Given the description of an element on the screen output the (x, y) to click on. 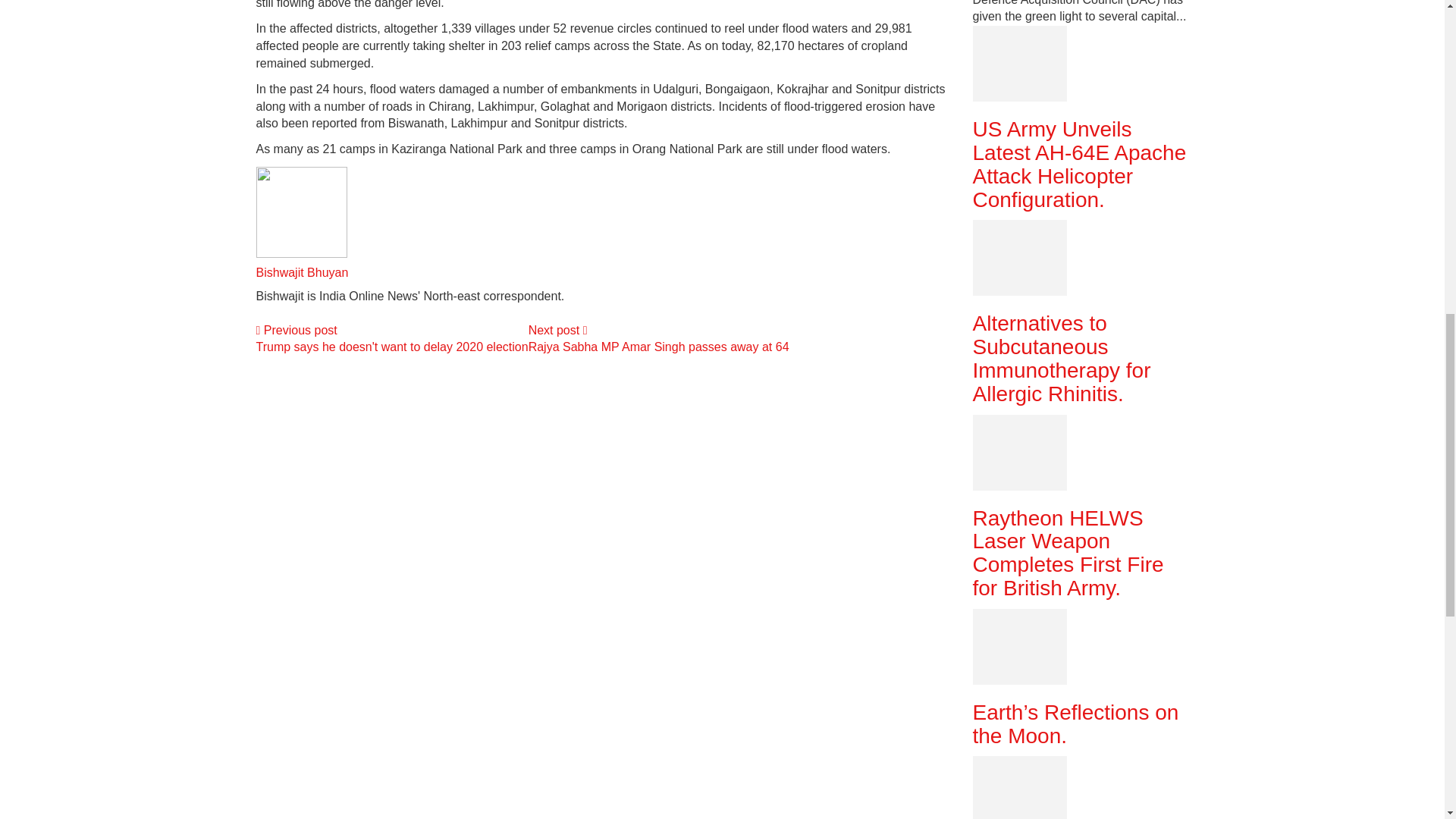
prev post (392, 343)
Posts by Bishwajit Bhuyan (302, 272)
next post (658, 343)
